Given the description of an element on the screen output the (x, y) to click on. 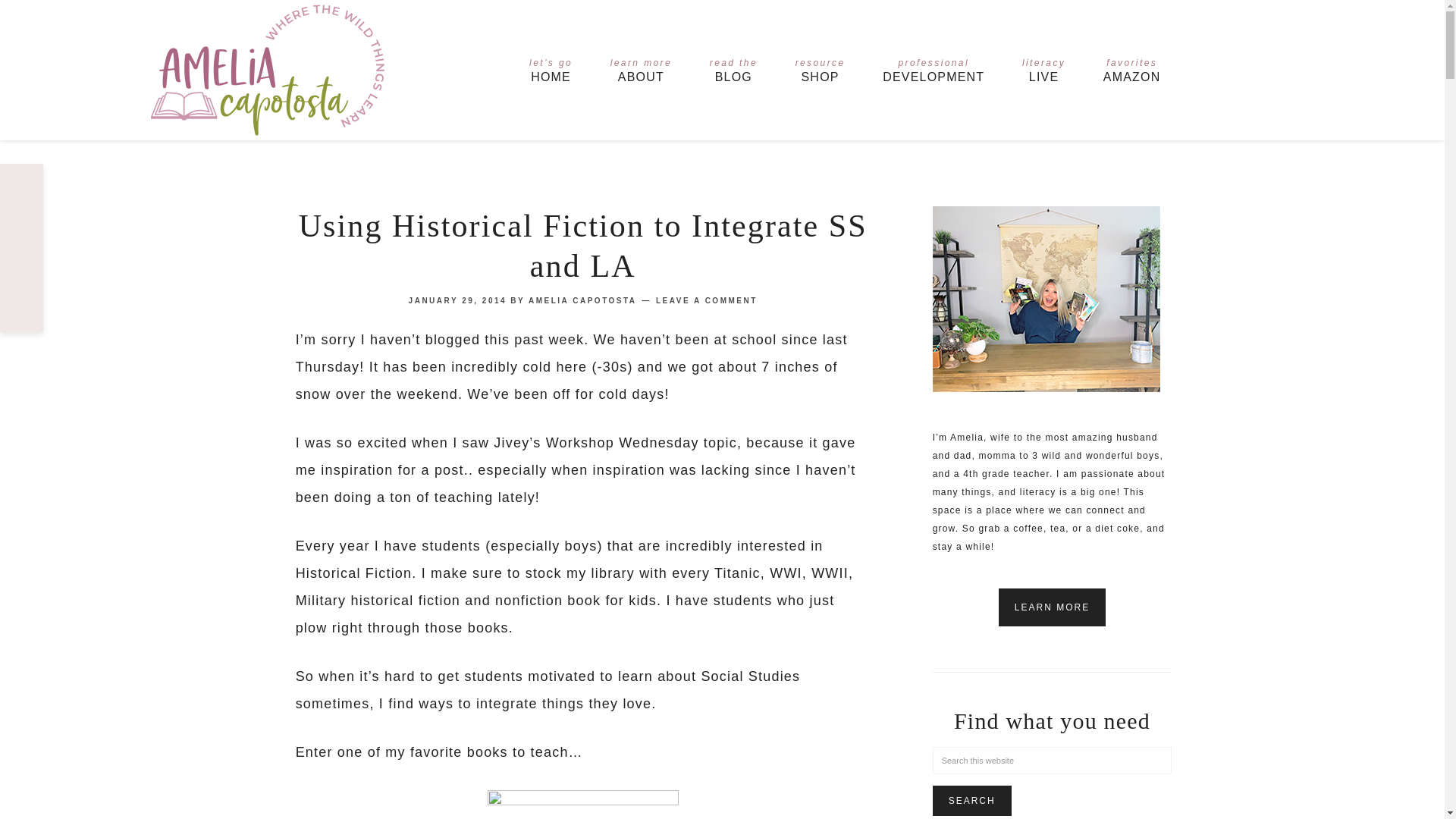
LEAVE A COMMENT (706, 300)
AMELIA CAPOTOSTA (819, 70)
Search (641, 70)
WHERE THE WILD THINGS LEARN (582, 300)
Search (1043, 70)
